Given the description of an element on the screen output the (x, y) to click on. 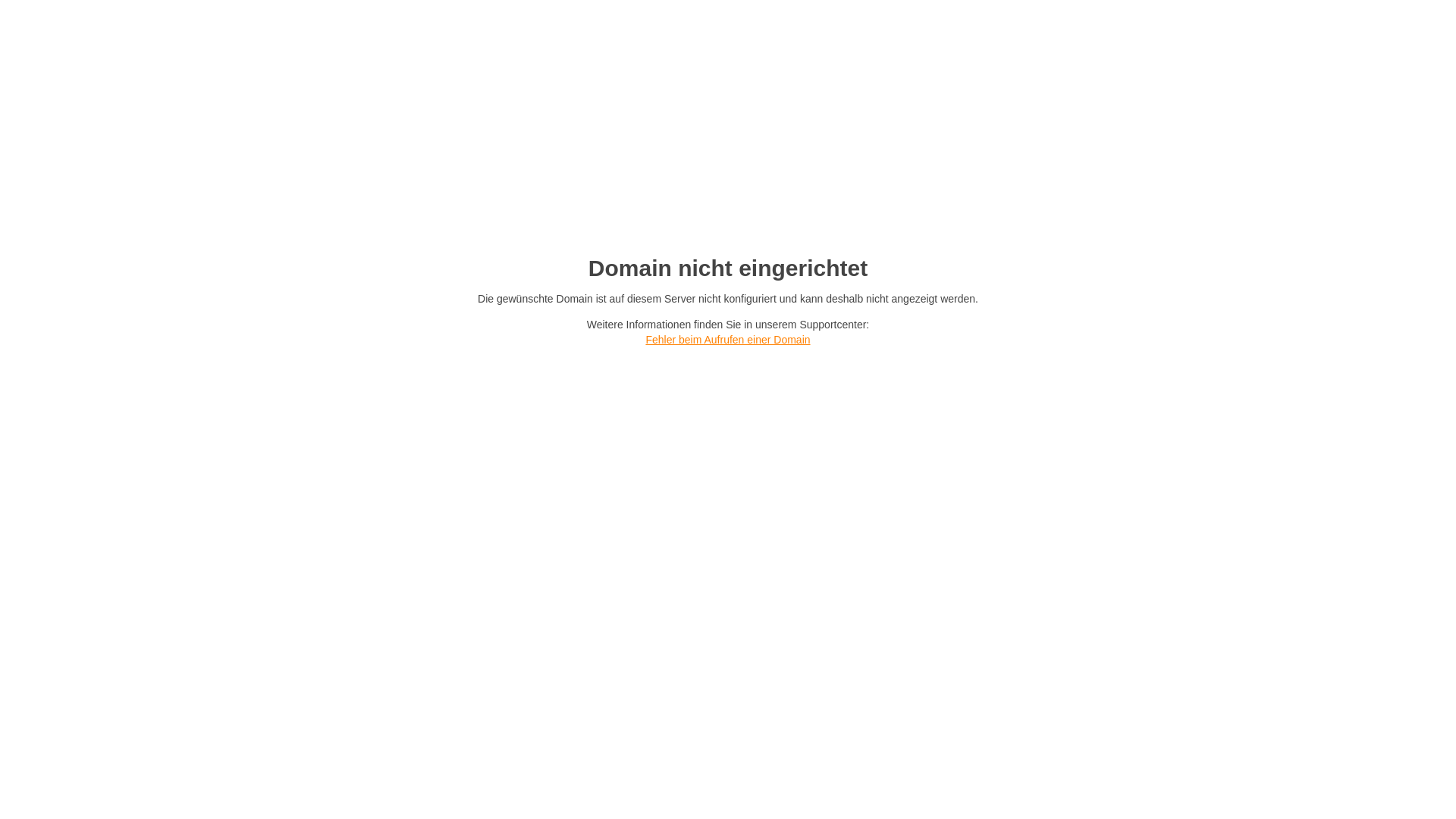
Fehler beim Aufrufen einer Domain Element type: text (727, 339)
